Given the description of an element on the screen output the (x, y) to click on. 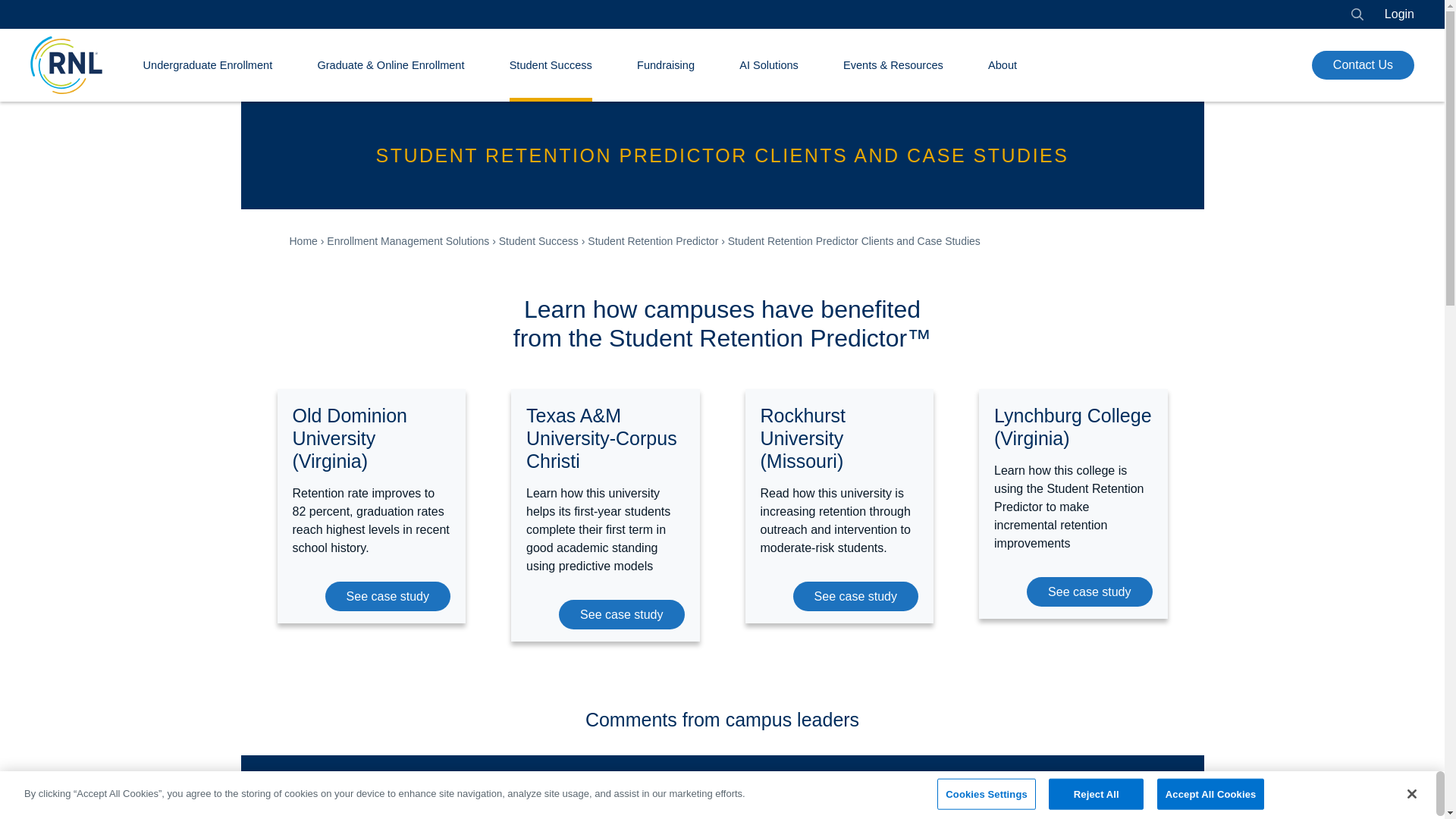
Undergraduate Enrollment (207, 65)
Student Success (550, 65)
Login (1398, 13)
Search (1357, 14)
Ruffalo Noel Levitz (65, 64)
